Given the description of an element on the screen output the (x, y) to click on. 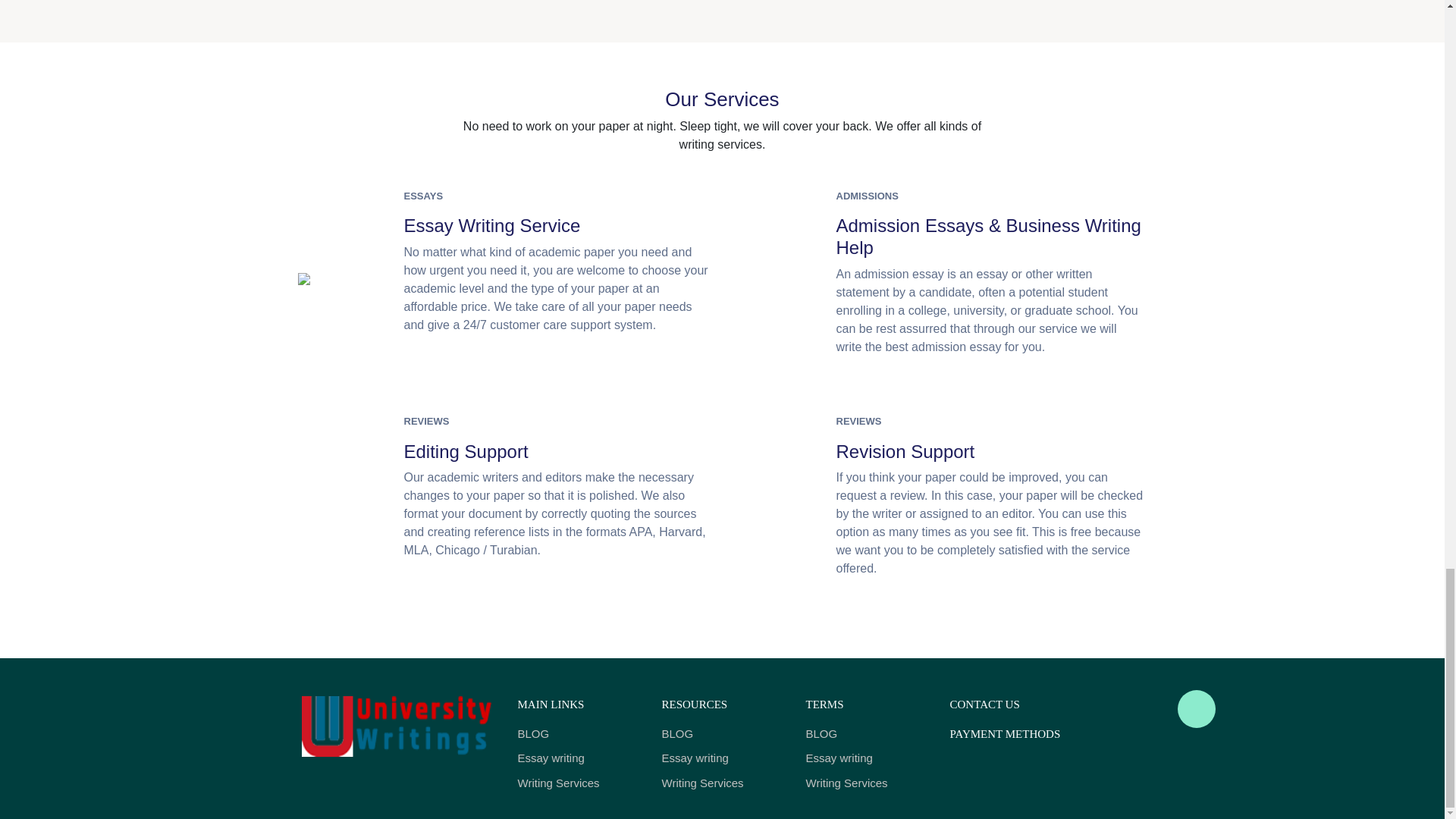
Writing Services (577, 783)
Essay writing (865, 758)
BLOG (865, 733)
BLOG (722, 733)
Writing Services (865, 783)
Writing Services (722, 783)
Essay writing (722, 758)
BLOG (577, 733)
Essay writing (577, 758)
